Given the description of an element on the screen output the (x, y) to click on. 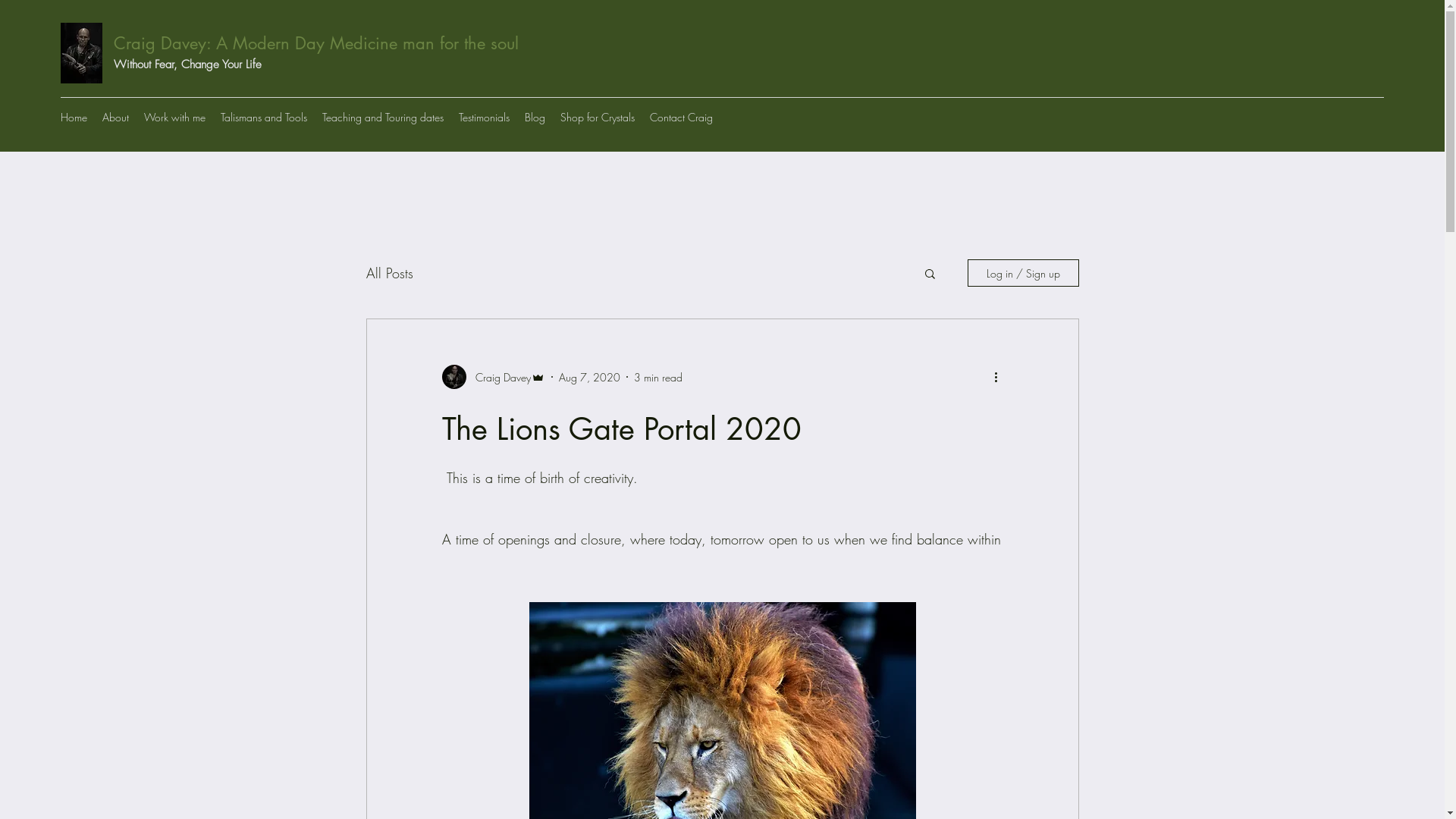
Blog Element type: text (534, 117)
A Modern Day Medicine man for the soul Element type: text (364, 42)
Testimonials Element type: text (484, 117)
All Posts Element type: text (388, 272)
Shop for Crystals Element type: text (597, 117)
Contact Craig Element type: text (681, 117)
Talismans and Tools Element type: text (263, 117)
About Element type: text (115, 117)
Home Element type: text (73, 117)
Log in / Sign up Element type: text (1023, 272)
Work with me Element type: text (174, 117)
Craig Davey: Element type: text (161, 42)
Teaching and Touring dates Element type: text (382, 117)
